Given the description of an element on the screen output the (x, y) to click on. 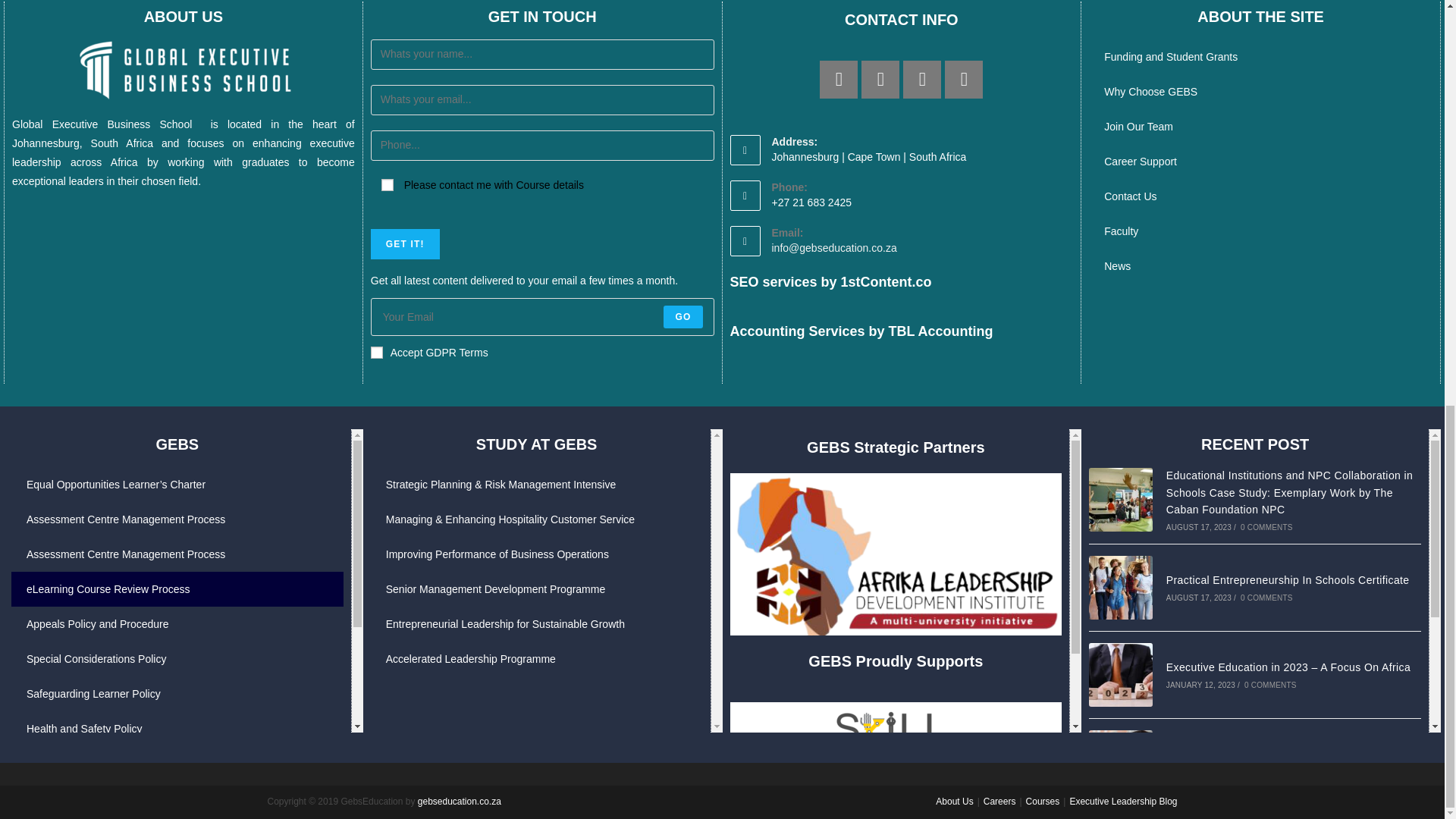
Practical Entrepreneurship In Schools Certificate (1121, 587)
GET IT! (405, 244)
1 (376, 352)
Please contact me with Course details (387, 184)
